Given the description of an element on the screen output the (x, y) to click on. 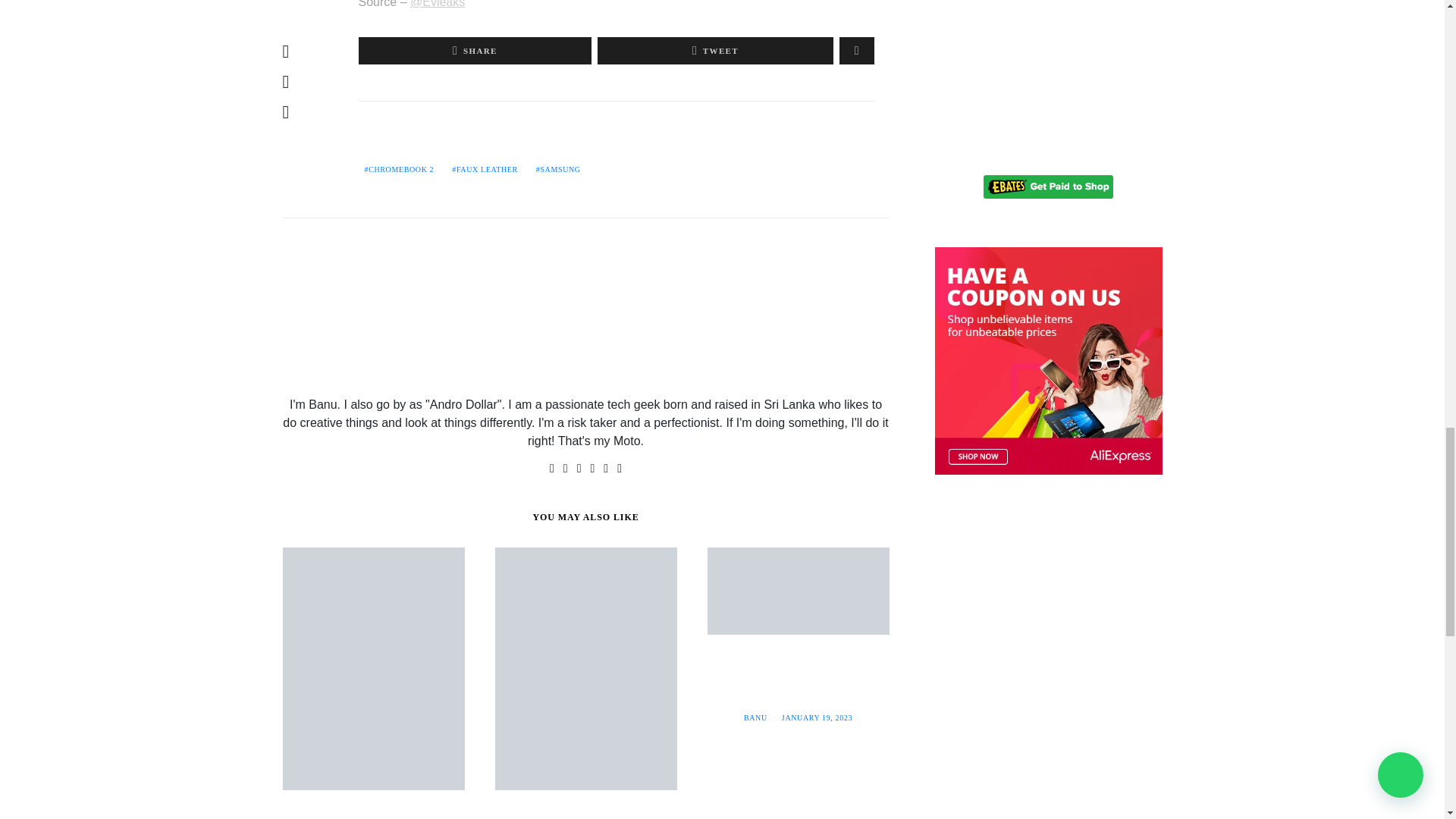
FAUX LEATHER (484, 169)
SHARE (474, 50)
View all posts by Banu (755, 717)
CHROMEBOOK 2 (398, 169)
TWEET (714, 50)
